Given the description of an element on the screen output the (x, y) to click on. 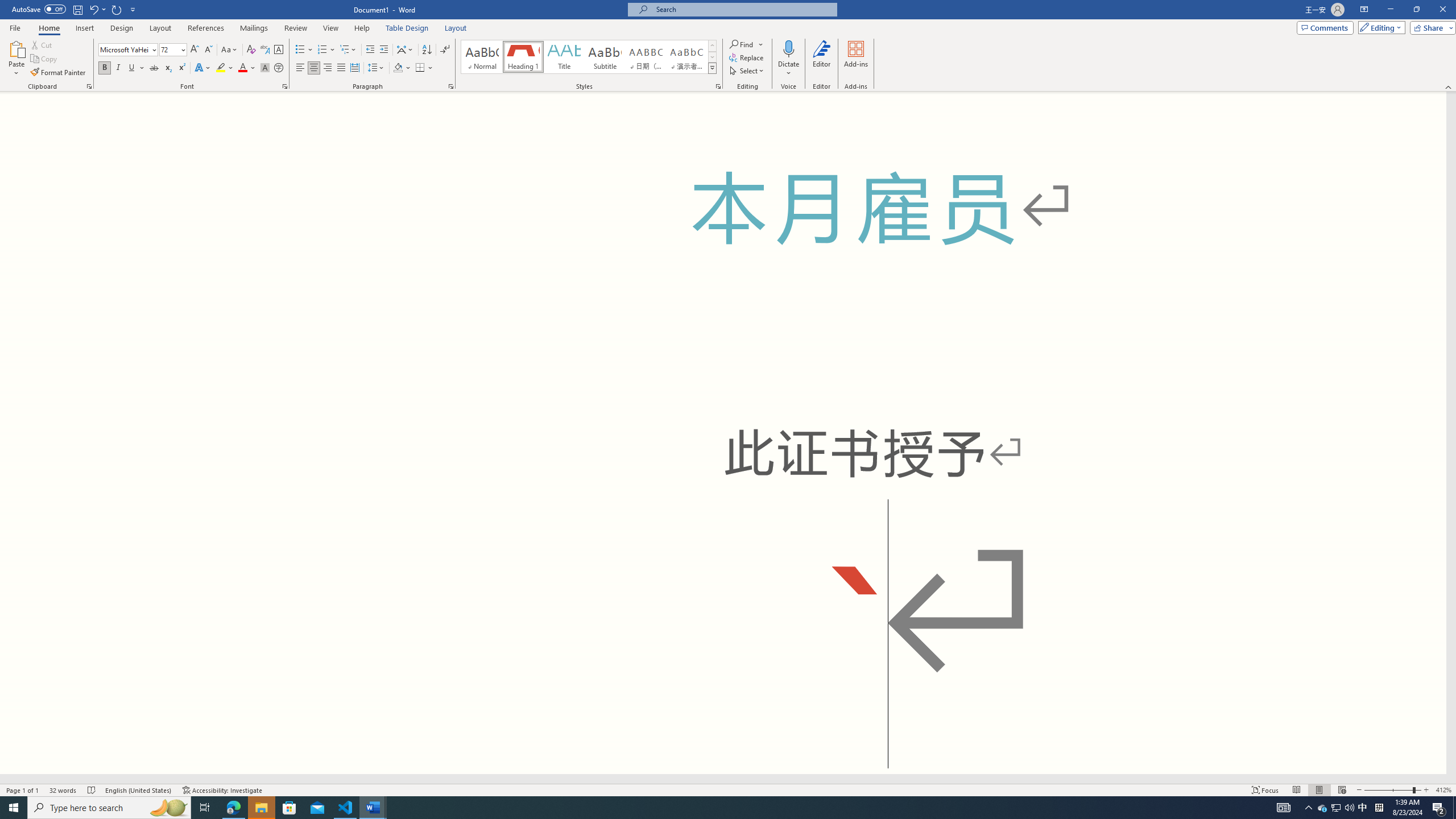
Zoom 412% (1443, 790)
Editing (1379, 27)
Page 1 content (722, 432)
